Given the description of an element on the screen output the (x, y) to click on. 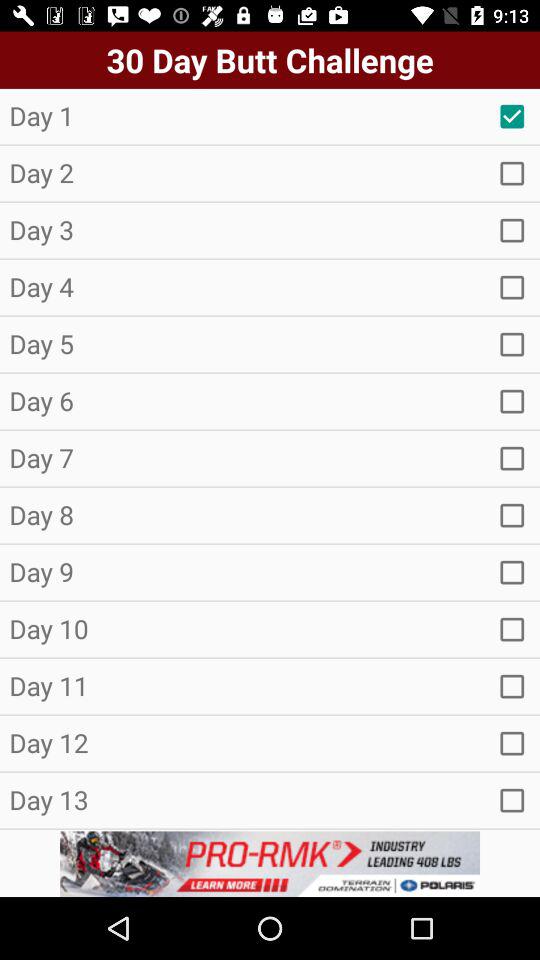
menu page (512, 401)
